Given the description of an element on the screen output the (x, y) to click on. 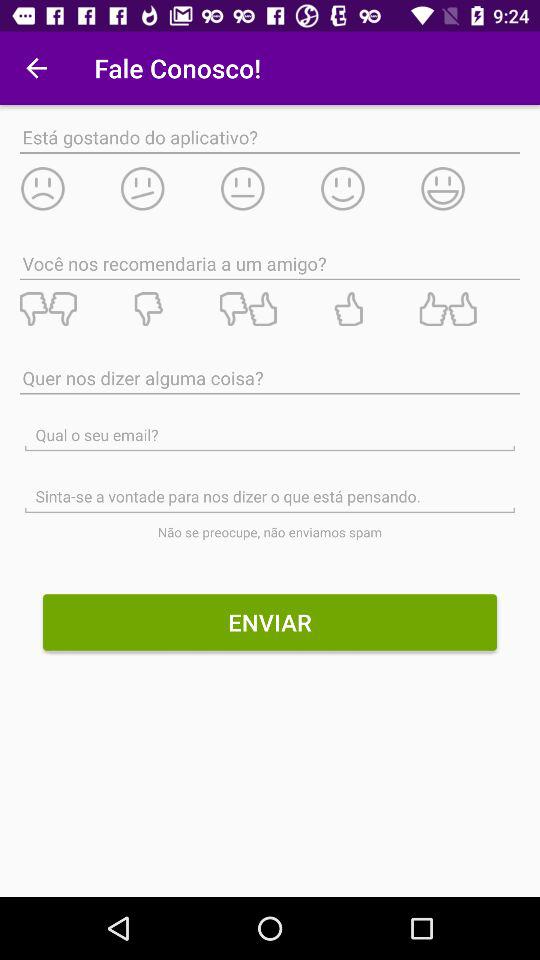
select unhappy (69, 188)
